Given the description of an element on the screen output the (x, y) to click on. 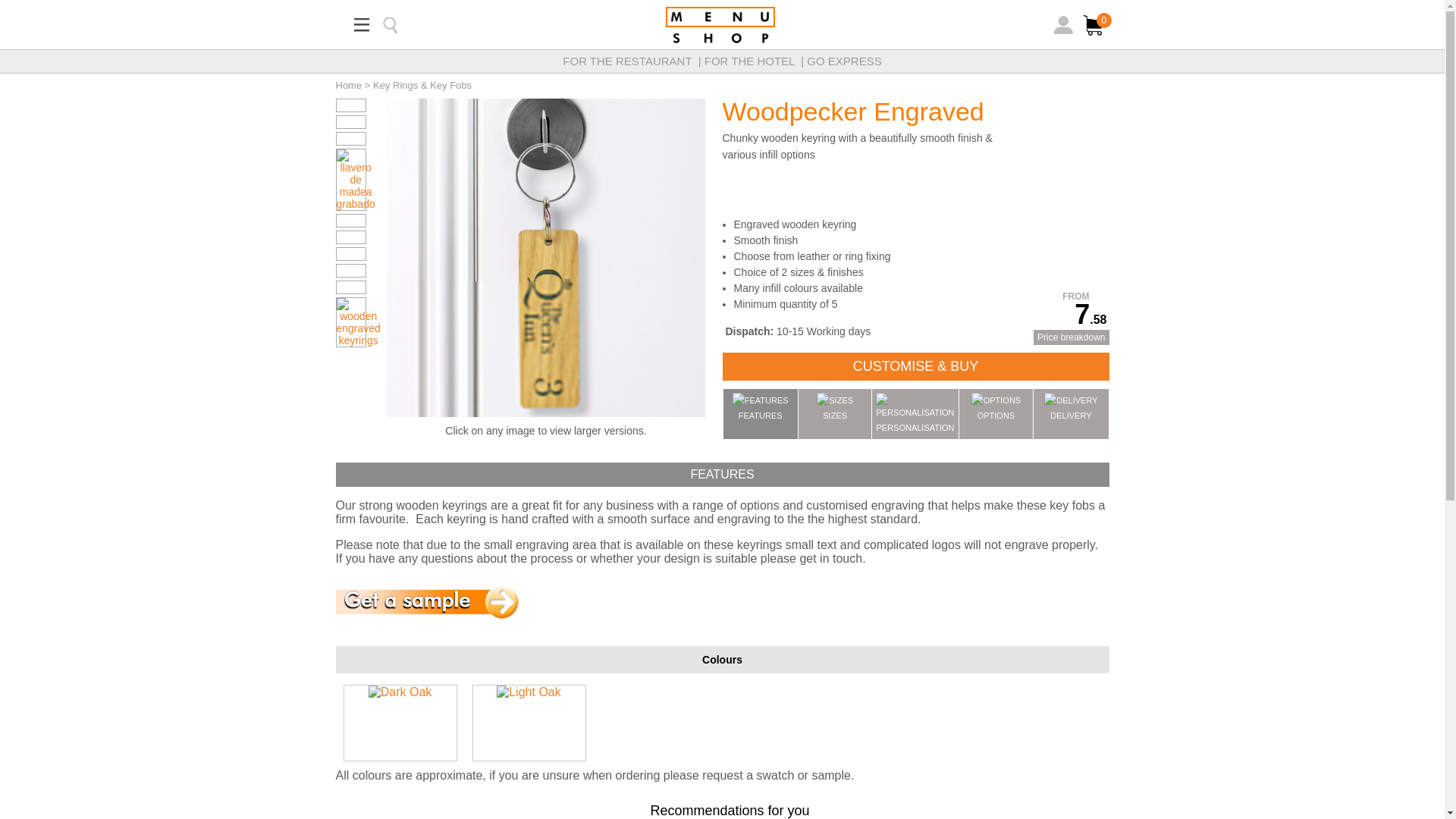
Light Oak (528, 692)
 0  (1094, 36)
wooden engraved keyrings (358, 322)
Your shopping cart (1094, 24)
SIZES (834, 413)
FEATURES (760, 413)
Dark Oak (400, 692)
Price breakdown (1070, 337)
GO EXPRESS (843, 60)
DELIVERY (1070, 413)
